Given the description of an element on the screen output the (x, y) to click on. 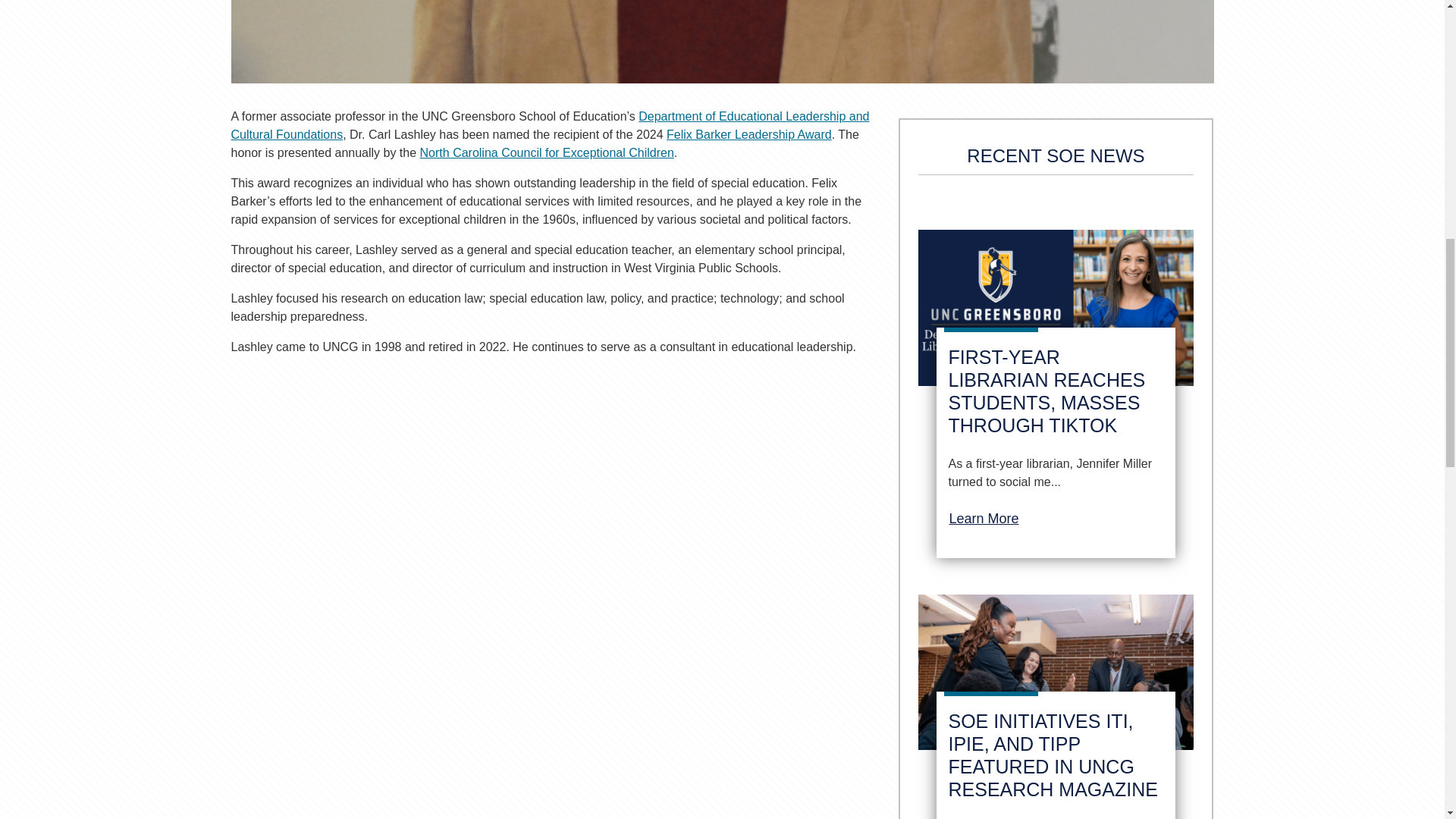
Learn More (983, 518)
First-Year Librarian Reaches Students, Masses Through TikTok (1055, 313)
First-Year Librarian Reaches Students, Masses Through TikTok (1045, 390)
